Given the description of an element on the screen output the (x, y) to click on. 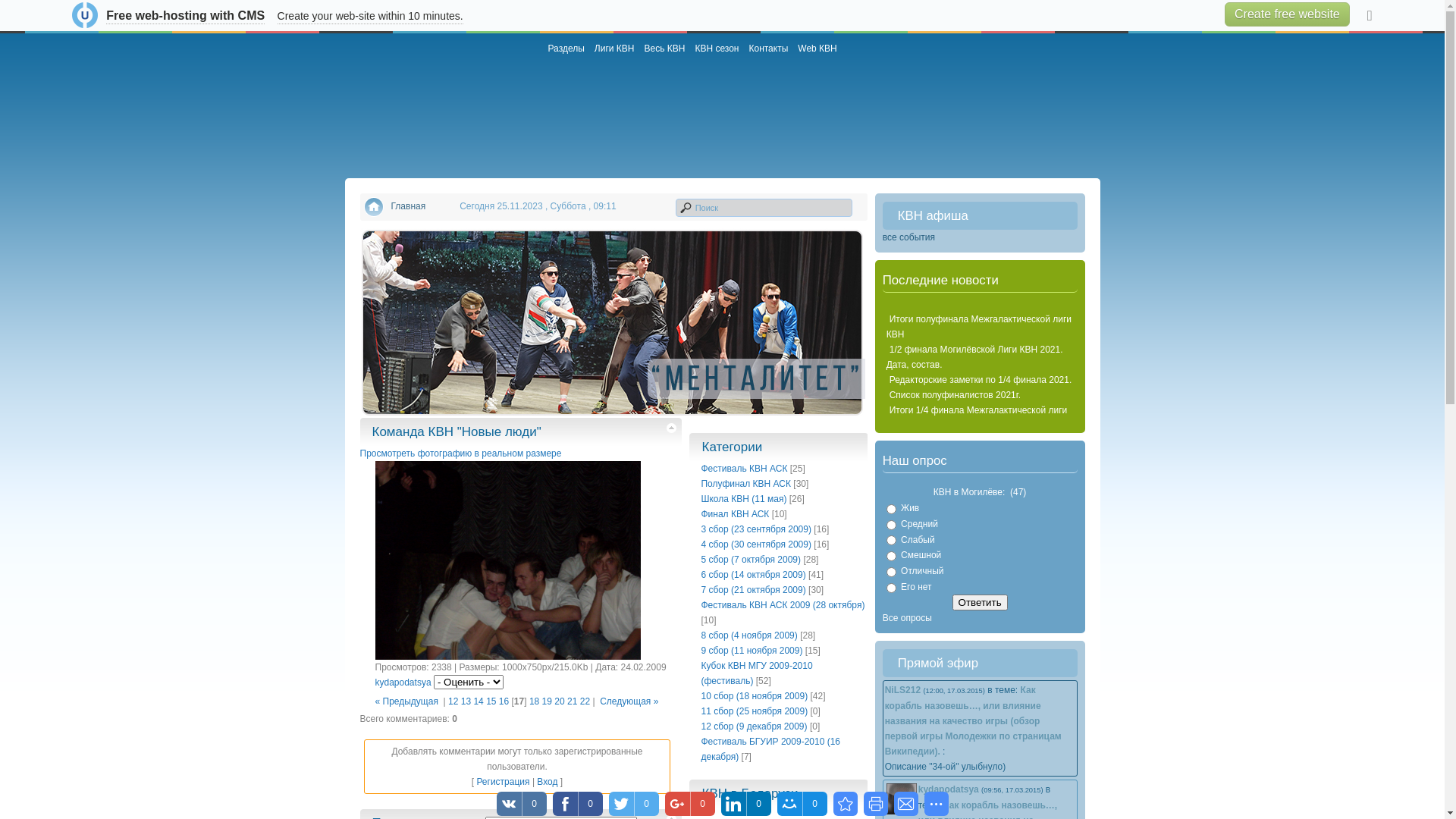
20 Element type: text (559, 701)
kydapodatsya Element type: text (948, 789)
22 Element type: text (584, 701)
13 Element type: text (465, 701)
16 Element type: text (503, 701)
21 Element type: text (572, 701)
NiLS212 Element type: text (902, 689)
18 Element type: text (534, 701)
14 Element type: text (478, 701)
15 Element type: text (490, 701)
kydapodatsya Element type: text (402, 682)
12 Element type: text (453, 701)
19 Element type: text (547, 701)
